Given the description of an element on the screen output the (x, y) to click on. 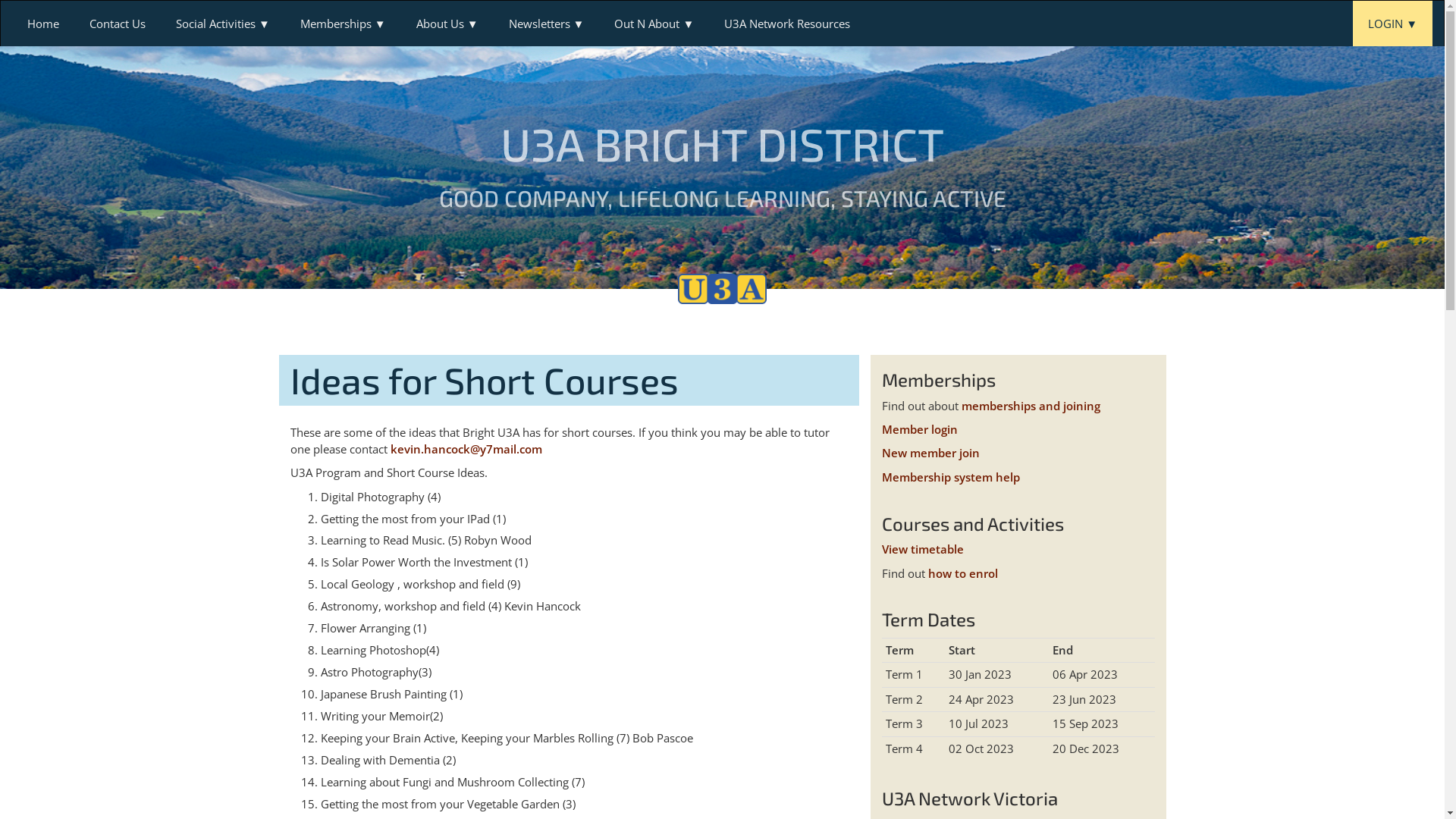
Home Element type: text (43, 23)
New member join Element type: text (930, 452)
Membership system help Element type: text (950, 476)
kevin.hancock@y7mail.com Element type: text (465, 448)
Out N About Element type: text (654, 23)
Member login Element type: text (919, 428)
About Us Element type: text (447, 23)
how to enrol Element type: text (962, 572)
Newsletters Element type: text (546, 23)
View timetable Element type: text (922, 548)
LOGIN Element type: text (1392, 23)
Memberships Element type: text (343, 23)
memberships and joining Element type: text (1030, 405)
Social Activities Element type: text (222, 23)
Contact Us Element type: text (117, 23)
U3A Network Resources Element type: text (787, 23)
